Given the description of an element on the screen output the (x, y) to click on. 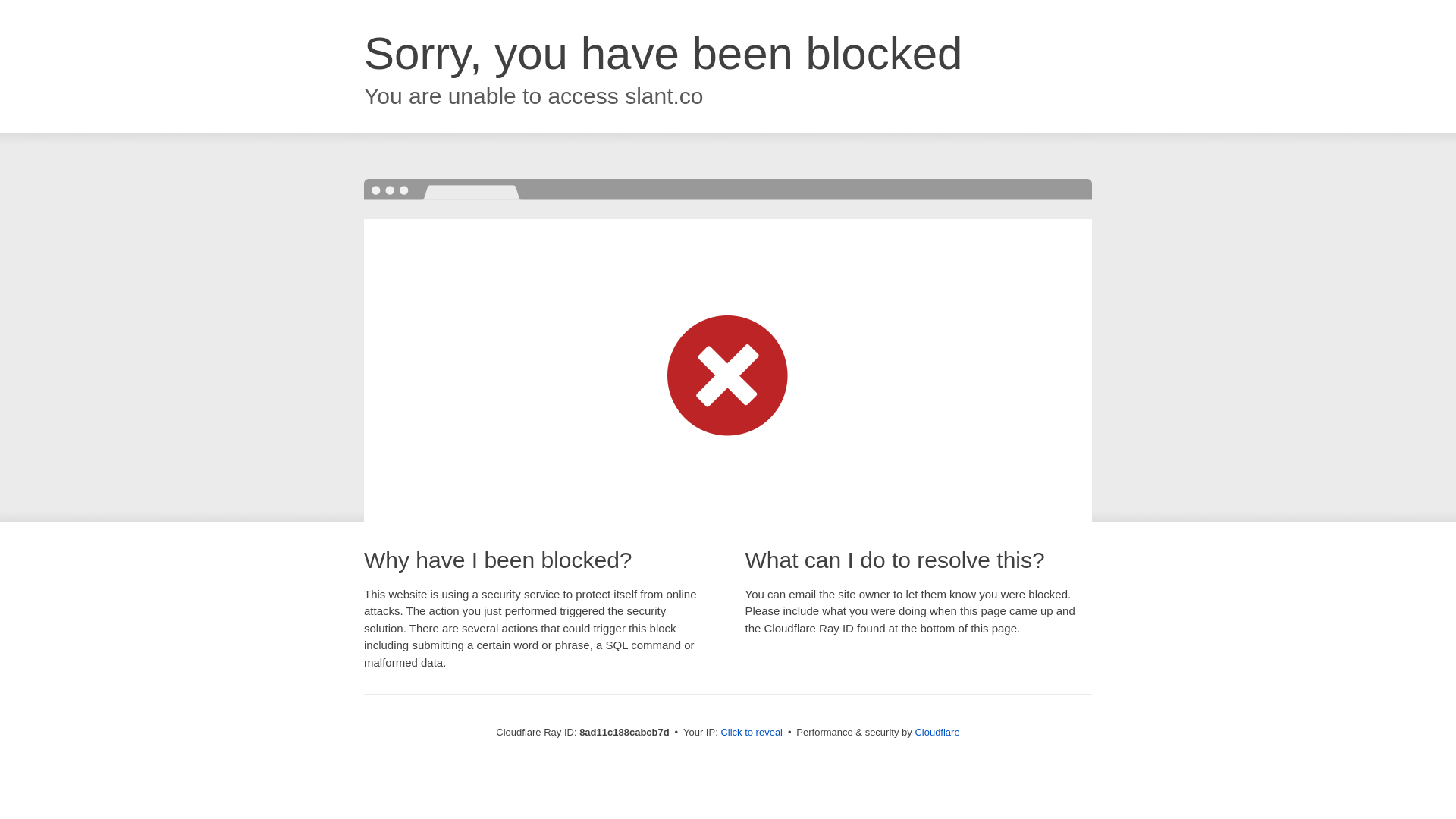
Click to reveal (751, 732)
Cloudflare (936, 731)
